Given the description of an element on the screen output the (x, y) to click on. 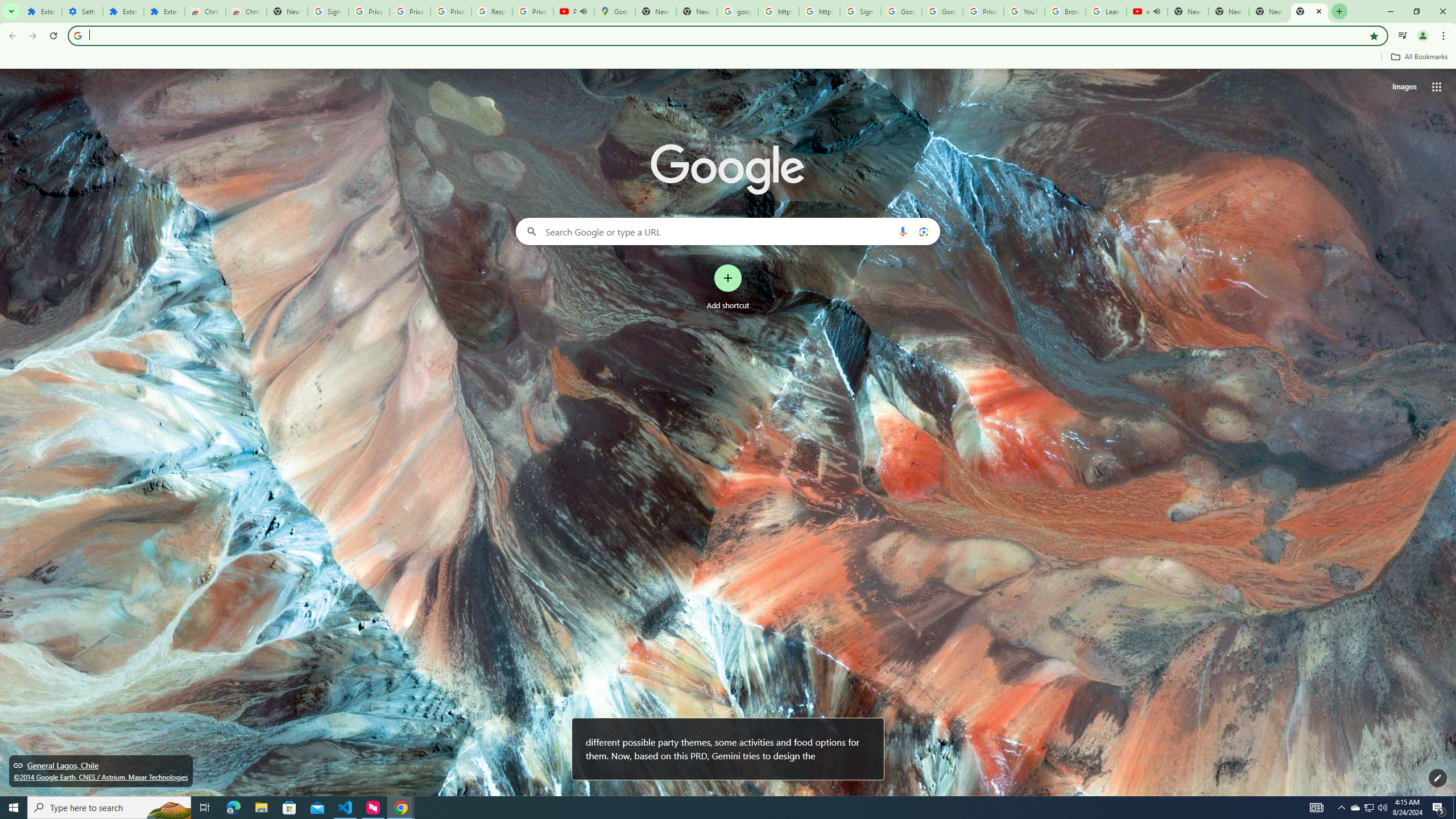
Bookmarks (728, 58)
Settings (81, 11)
Extensions (122, 11)
Extensions (41, 11)
Chrome Web Store (205, 11)
Sign in - Google Accounts (327, 11)
Personalized AI for you | Gemini - YouTube - Audio playing (573, 11)
